Given the description of an element on the screen output the (x, y) to click on. 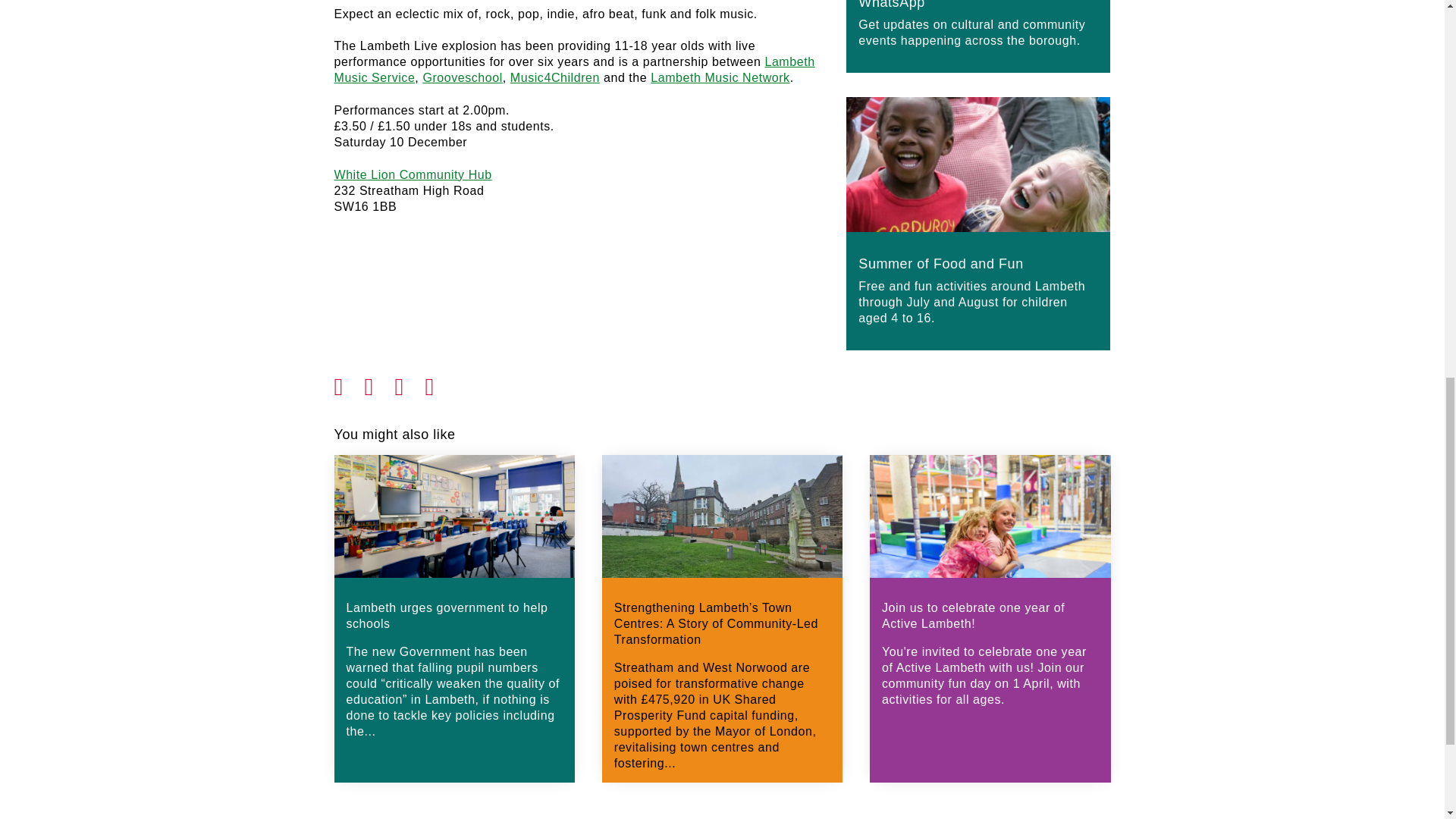
White Lion Community Hub (412, 174)
Music4Children (555, 77)
Lambeth Music Service (573, 69)
share this on Facebook (348, 382)
share this on twitter (379, 382)
Lambeth Music Network (719, 77)
Grooveschool (462, 77)
share this on google plus (409, 382)
